Given the description of an element on the screen output the (x, y) to click on. 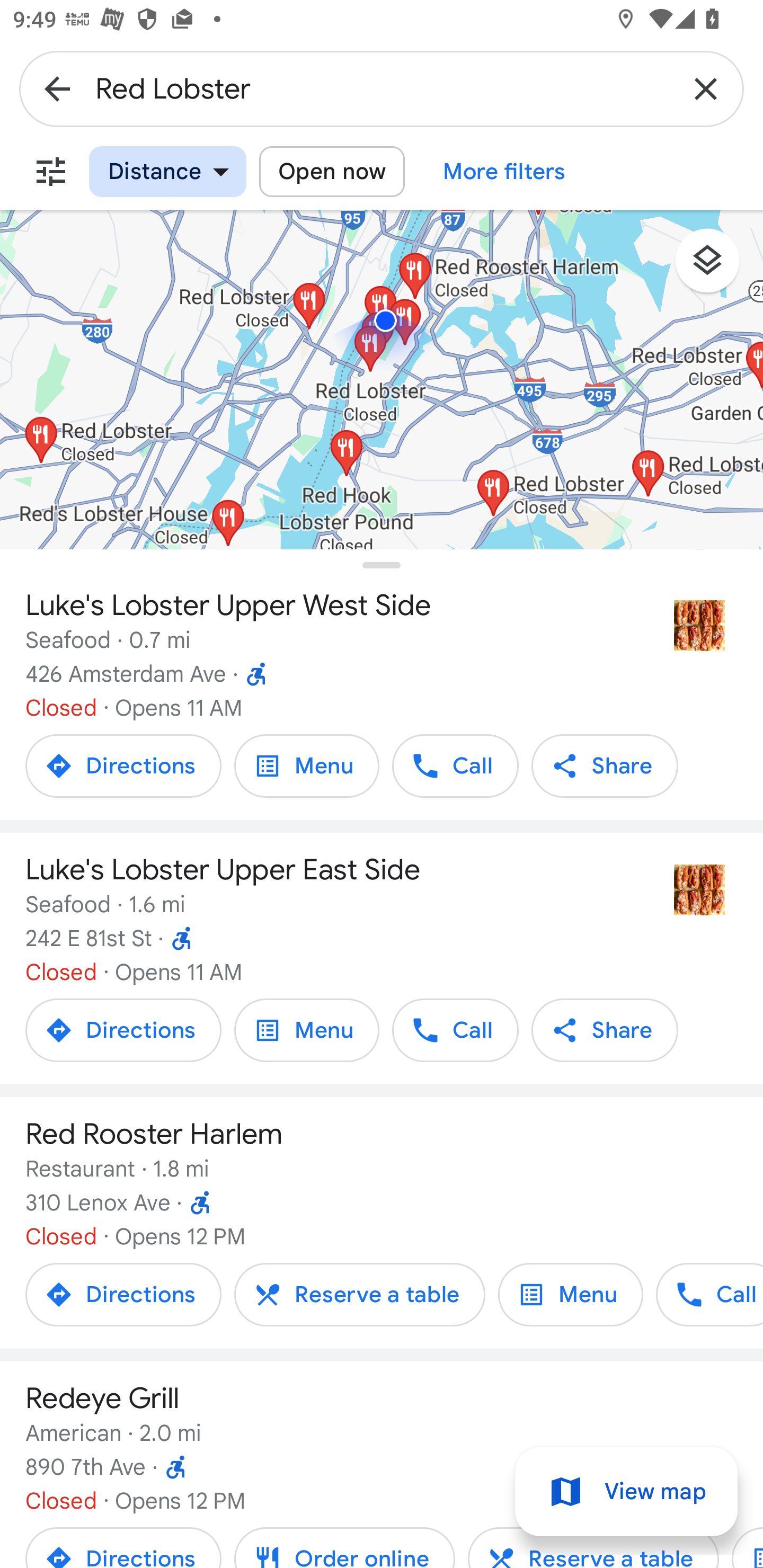
Back (57, 88)
Red Lobster (381, 88)
Clear (705, 88)
More filters (50, 171)
Distance Distance Distance (167, 171)
Open now Open now Open now (332, 171)
More filters More filters More filters (504, 171)
Layers (716, 267)
Reserve a table Reserve a table Reserve a table (359, 1293)
View map Map view (626, 1491)
